Given the description of an element on the screen output the (x, y) to click on. 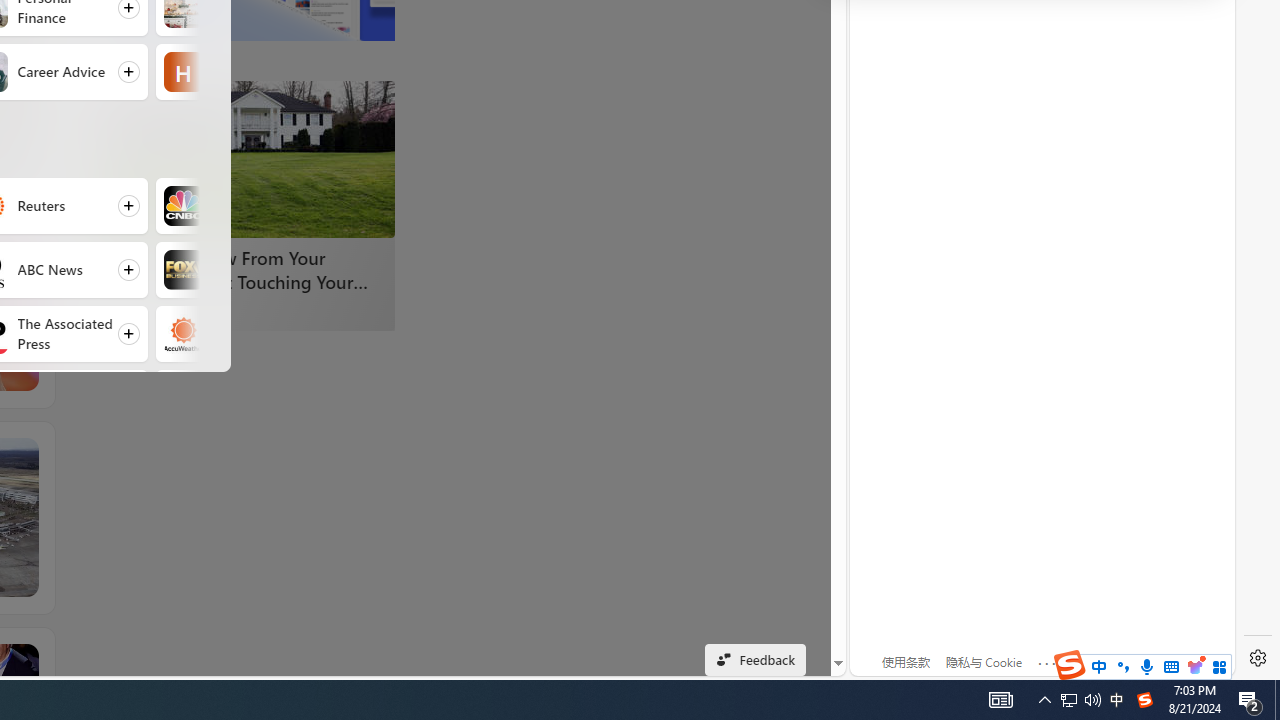
Ad (123, 309)
How To Borrow From Your Home Without Touching Your Mortgage (244, 159)
Follow Healthy Eating (249, 71)
Feedback (755, 659)
